Given the description of an element on the screen output the (x, y) to click on. 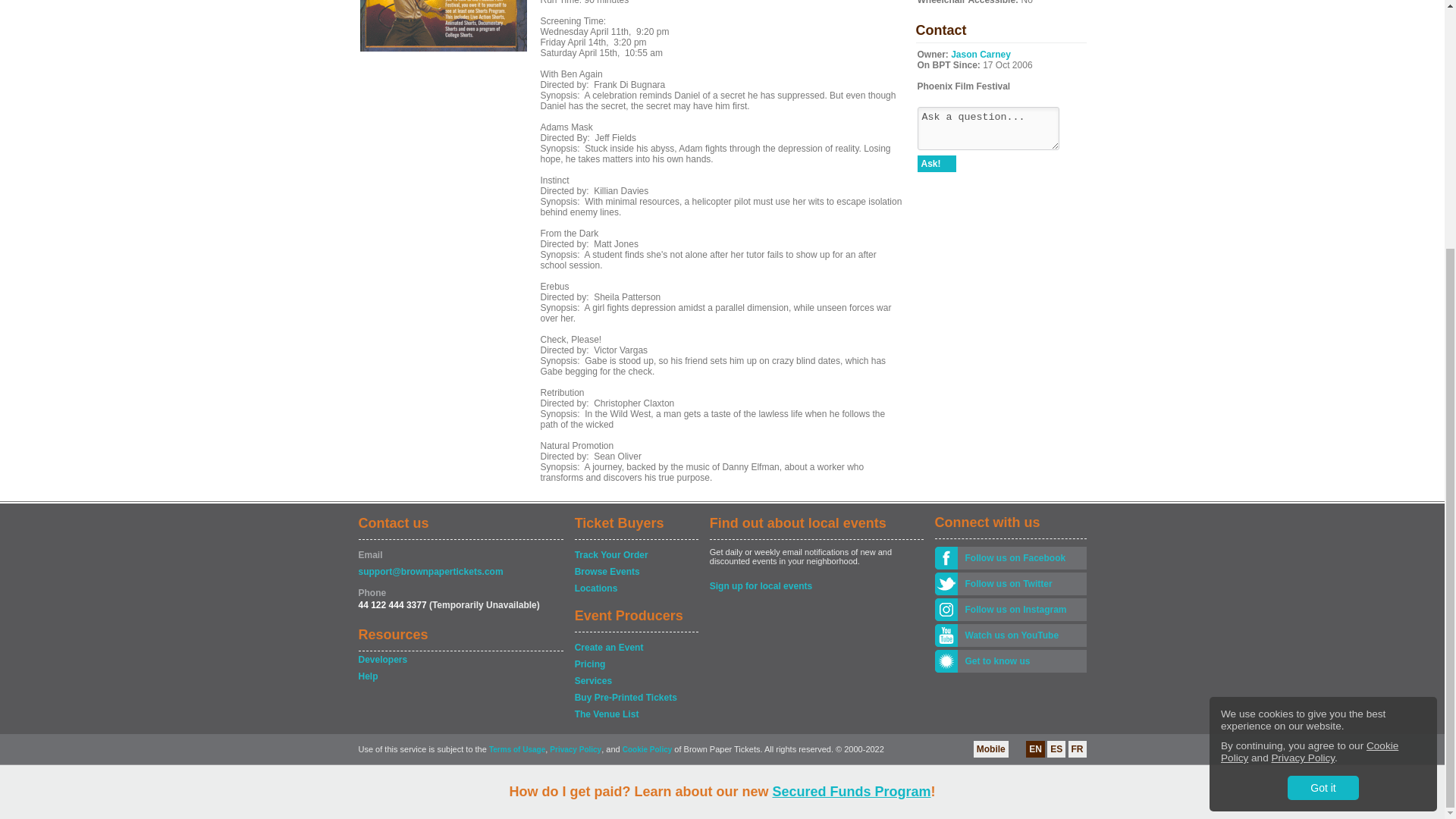
Secured Funds Program (850, 443)
Browse Events (636, 571)
Follow us on Twitter (1021, 583)
Pricing (636, 663)
Sign up for local events (816, 585)
Privacy Policy (1303, 409)
Got it (1322, 439)
Jason Carney (980, 54)
Track Your Order (636, 554)
Help (460, 676)
Create an Event (636, 647)
Locations (636, 588)
The Venue List (636, 713)
Ask! (936, 163)
Services (636, 680)
